Given the description of an element on the screen output the (x, y) to click on. 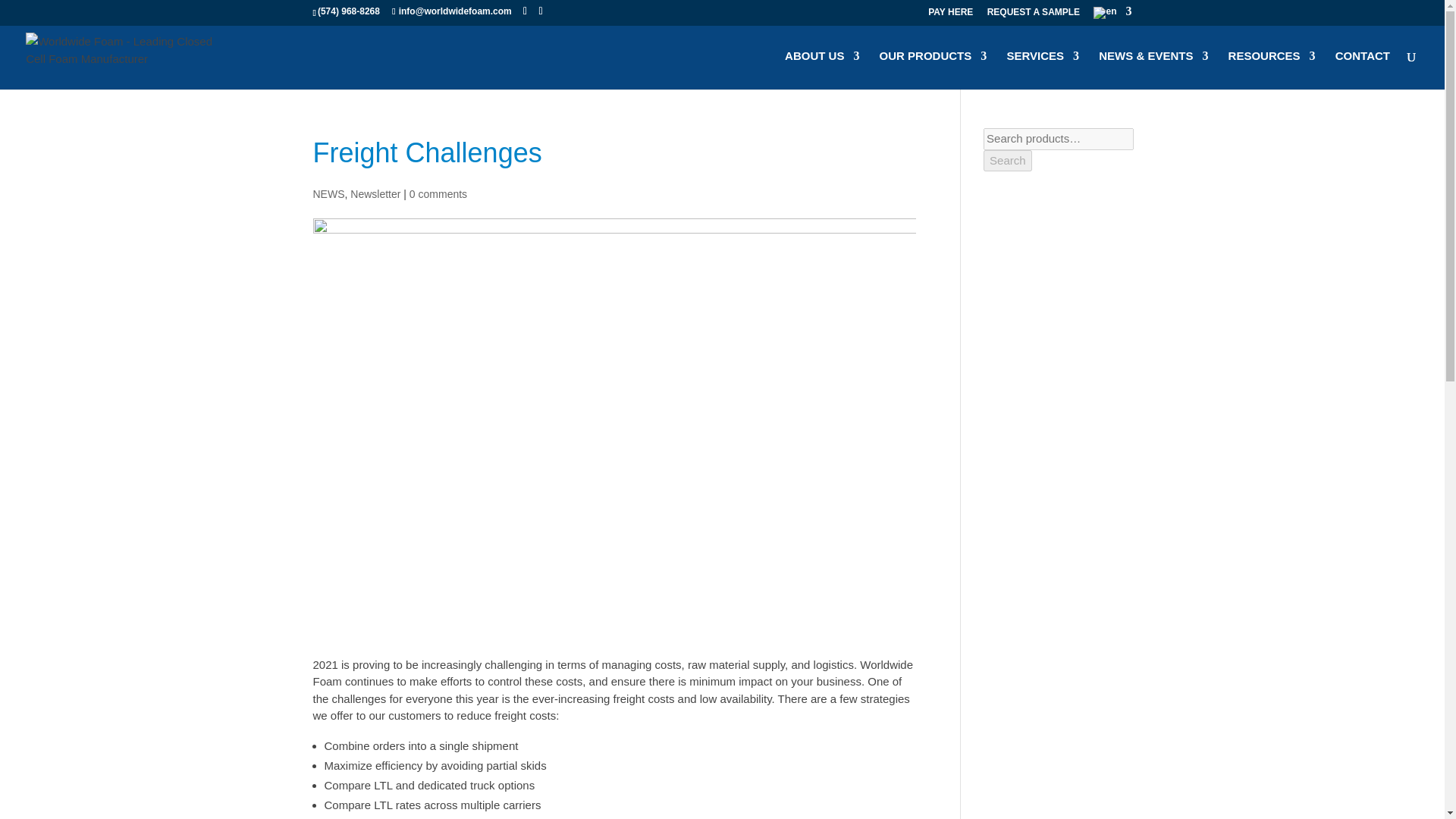
PAY HERE (950, 11)
PAY HERE (950, 15)
REQUEST A SAMPLE (1033, 15)
ABOUT US (821, 69)
SERVICES (1042, 69)
OUR PRODUCTS (933, 69)
